Given the description of an element on the screen output the (x, y) to click on. 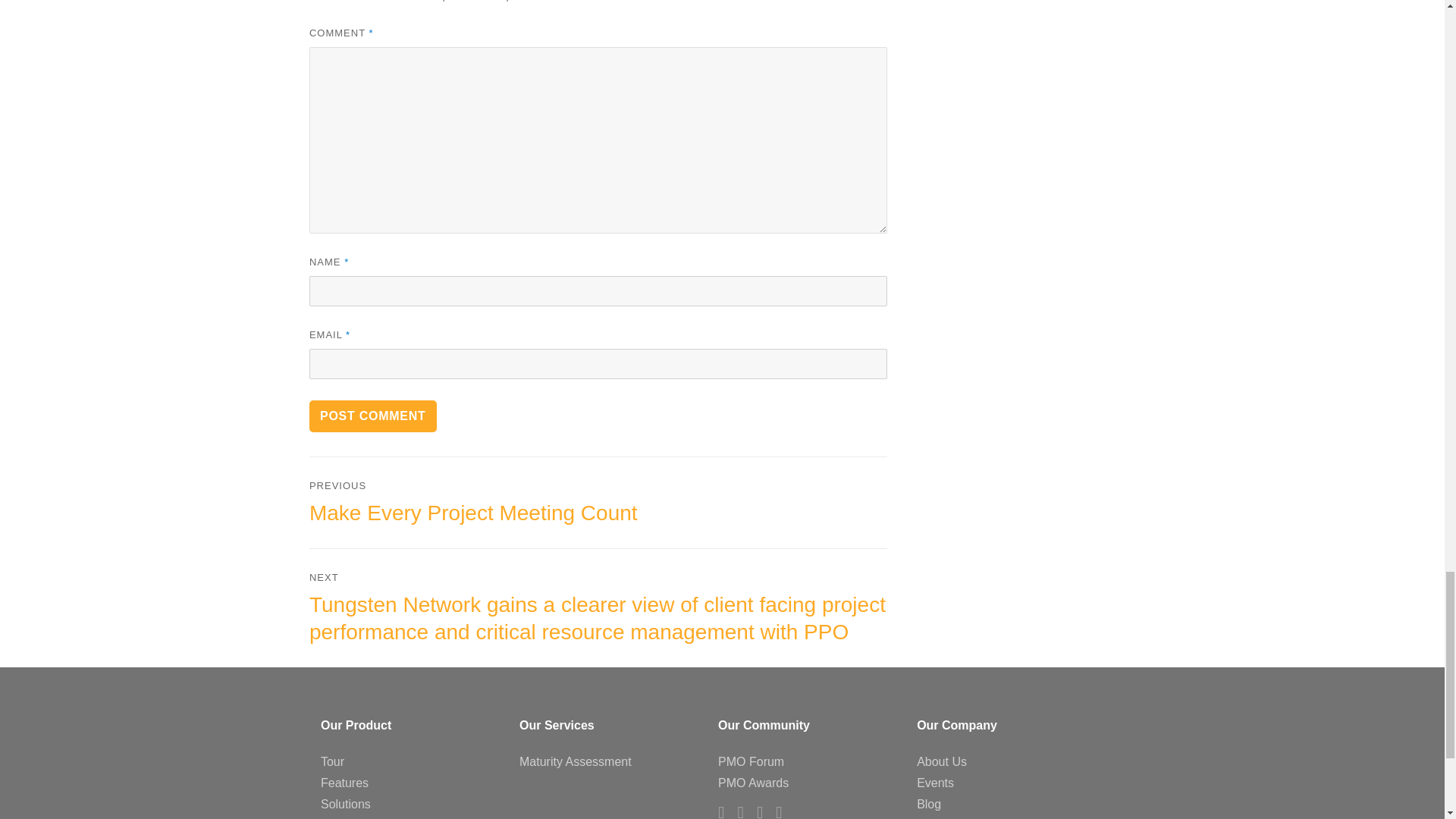
Post Comment (372, 416)
